Given the description of an element on the screen output the (x, y) to click on. 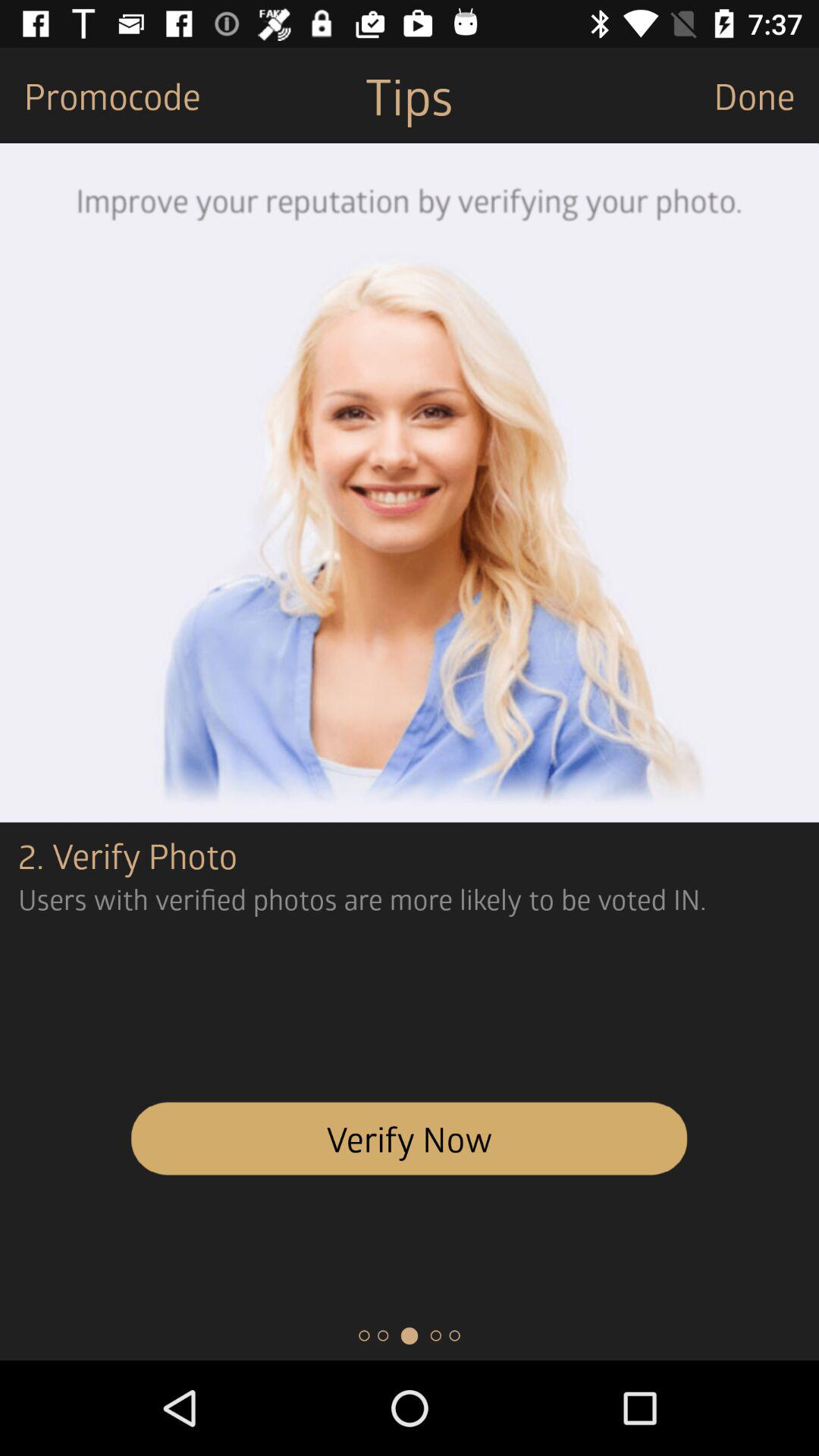
launch the icon to the left of tips icon (100, 95)
